Given the description of an element on the screen output the (x, y) to click on. 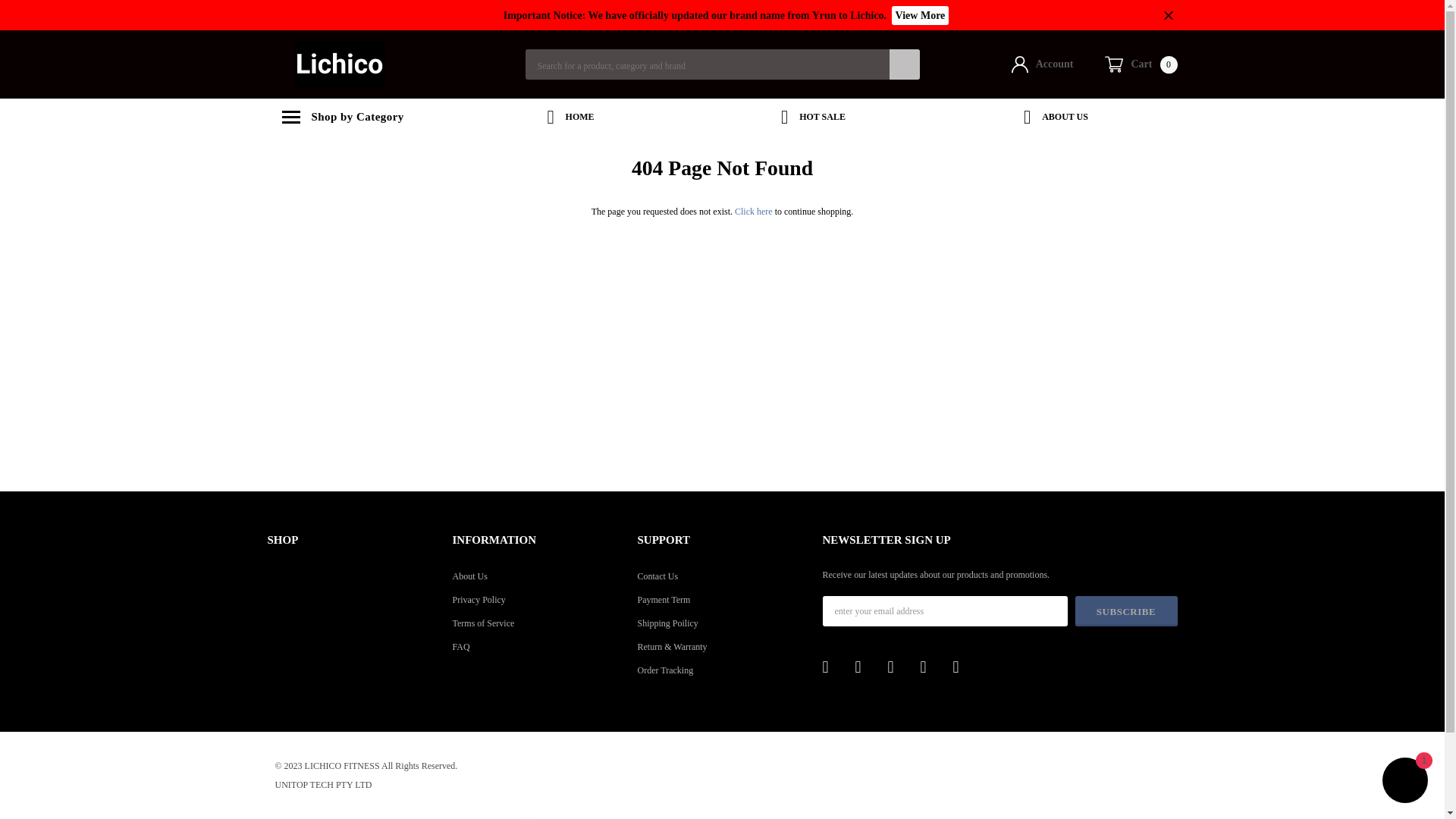
close (1168, 14)
Instagram (931, 667)
Shopify online store chat (1140, 64)
About Us (1404, 781)
ABOUT US (536, 576)
Terms of Service (1055, 116)
Account (536, 622)
Click here (1042, 64)
Payment Term (754, 211)
HOME (721, 599)
Shipping Poilicy (570, 116)
View More (721, 622)
Shop by Category (920, 15)
HOT SALE (357, 116)
